Given the description of an element on the screen output the (x, y) to click on. 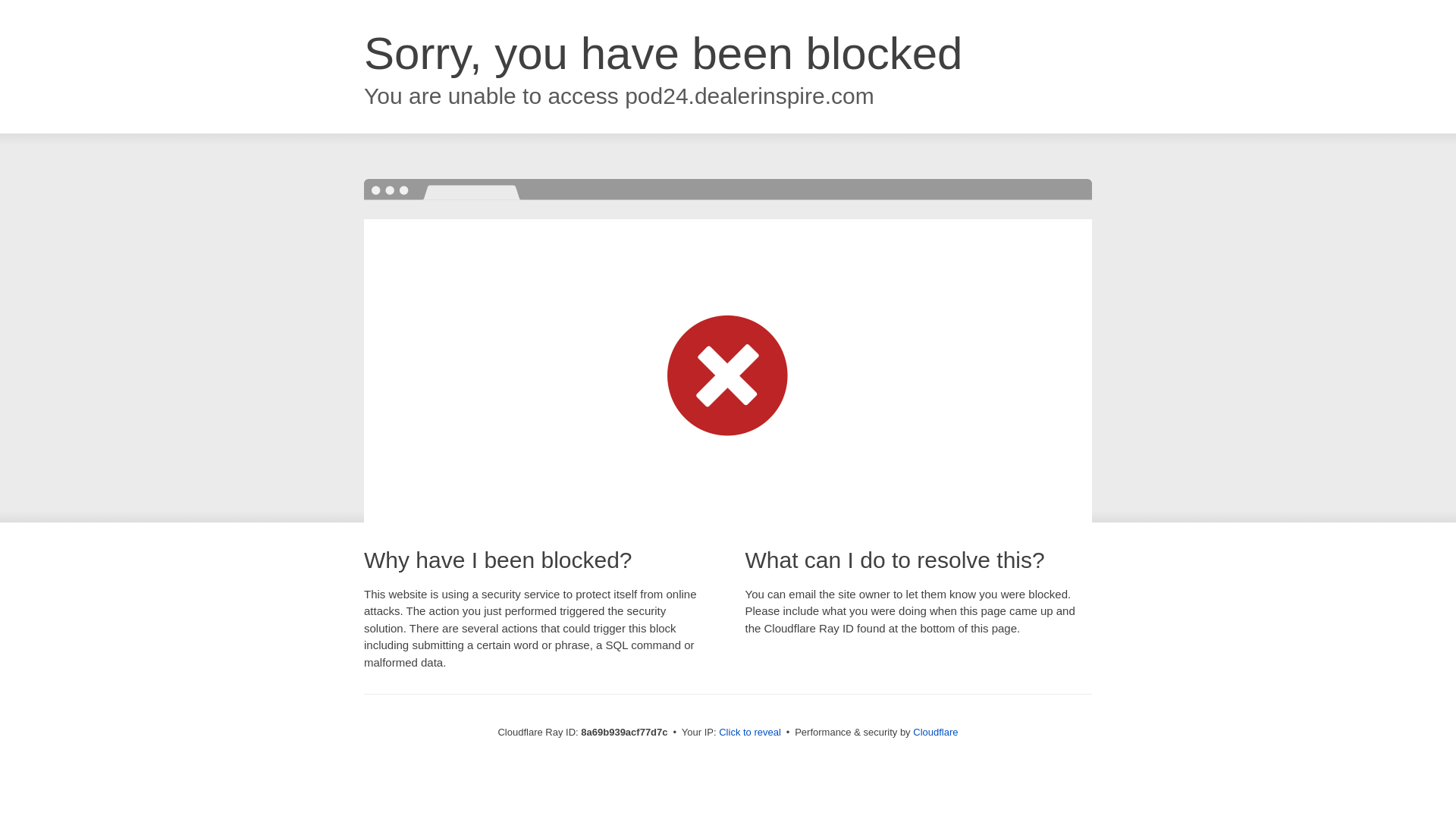
Click to reveal (749, 732)
Cloudflare (935, 731)
